Given the description of an element on the screen output the (x, y) to click on. 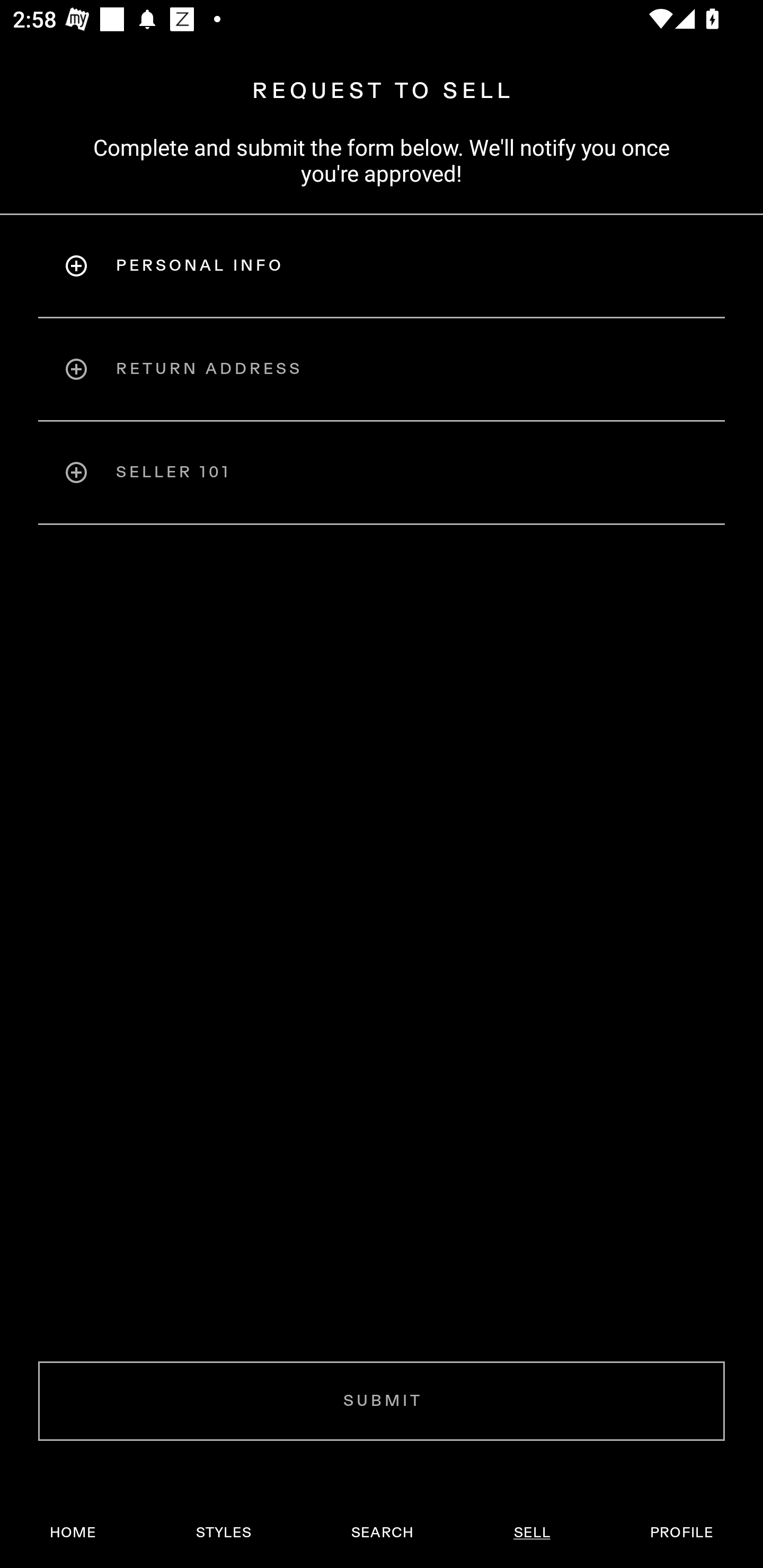
PERSONAL INFO (381, 265)
RETURN ADDRESS (381, 369)
SELLER 101 (381, 472)
SUBMIT (381, 1400)
HOME (72, 1532)
STYLES (222, 1532)
SEARCH (381, 1532)
SELL (531, 1532)
PROFILE (681, 1532)
